Given the description of an element on the screen output the (x, y) to click on. 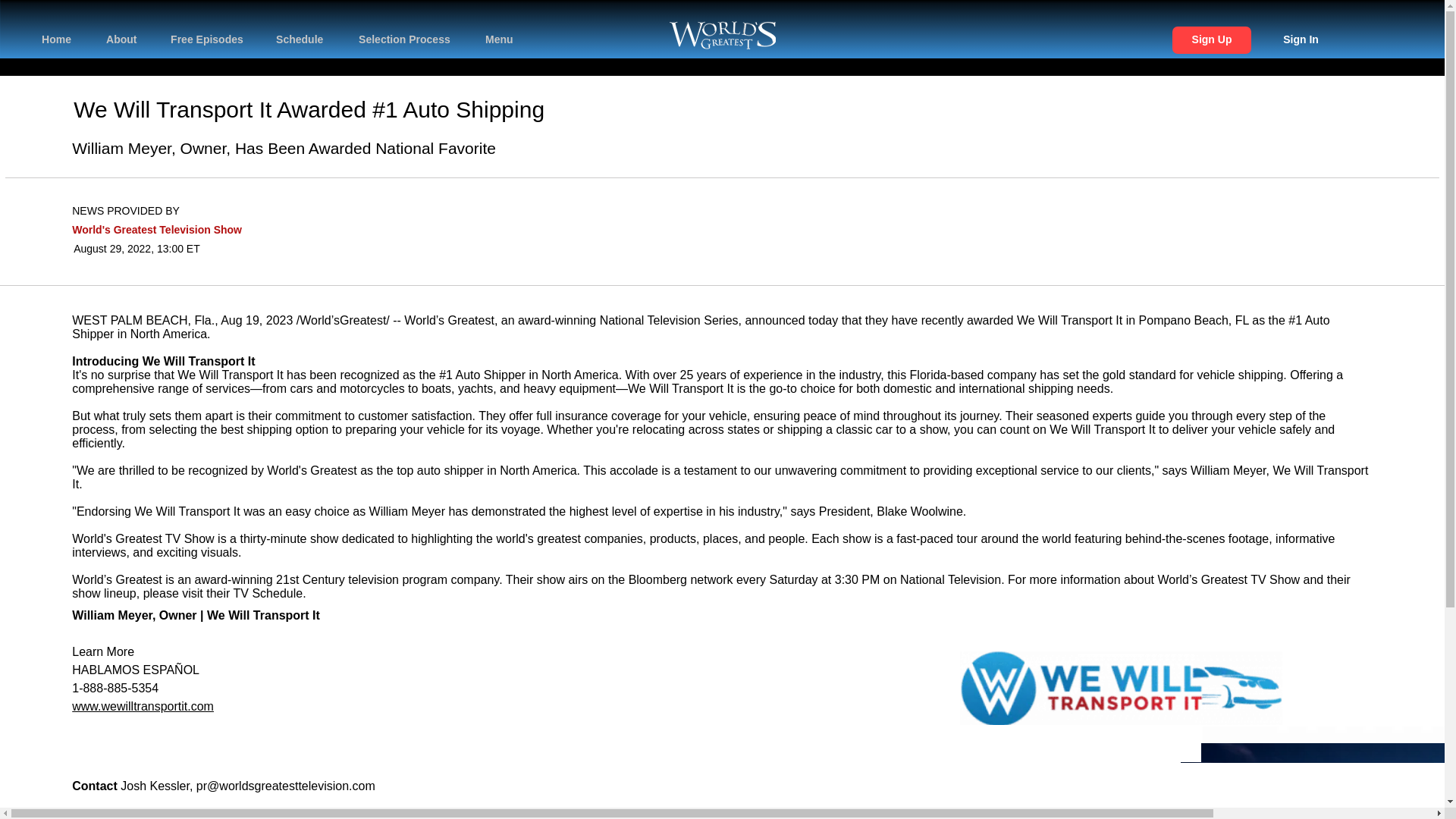
We Will Transport It (199, 360)
Sign Up (1212, 40)
Home (61, 32)
Auto Shipping (473, 109)
About (125, 32)
We Will Transport It (172, 109)
Selection Process (408, 32)
Free Episodes (210, 32)
www.wewilltransportit.com (142, 706)
We Will Transport It (263, 615)
Schedule (304, 32)
Sign In (1299, 40)
